Given the description of an element on the screen output the (x, y) to click on. 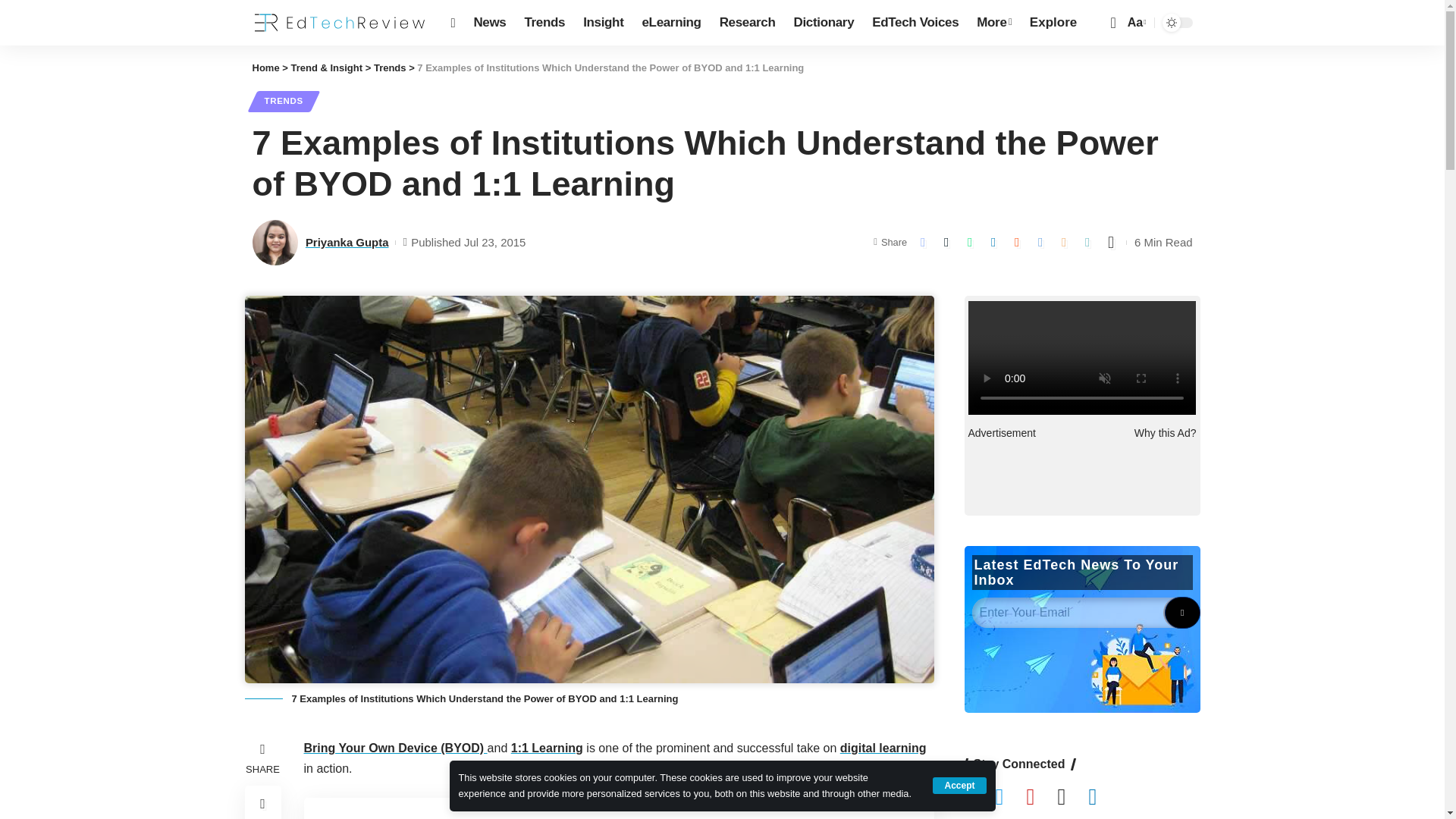
Explore (1053, 22)
Dictionary (823, 22)
Follow EdTechReview on Twitter (1010, 797)
More (994, 22)
EdTech Voices (915, 22)
Research (747, 22)
eLearning (670, 22)
EdTechReview (338, 22)
Priyanka Gupta (274, 242)
Follow EdTechReview on Facebook (979, 797)
